Given the description of an element on the screen output the (x, y) to click on. 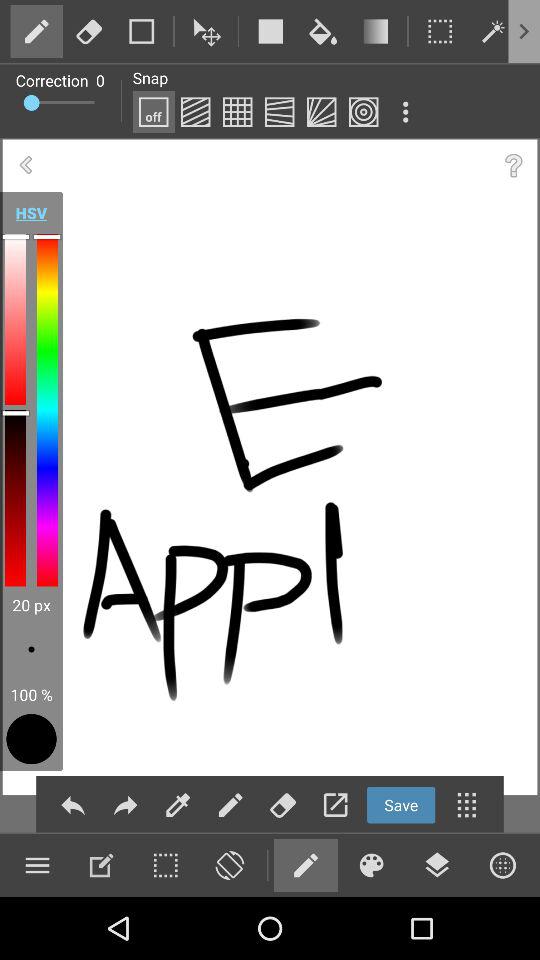
flips it sideways (229, 865)
